Given the description of an element on the screen output the (x, y) to click on. 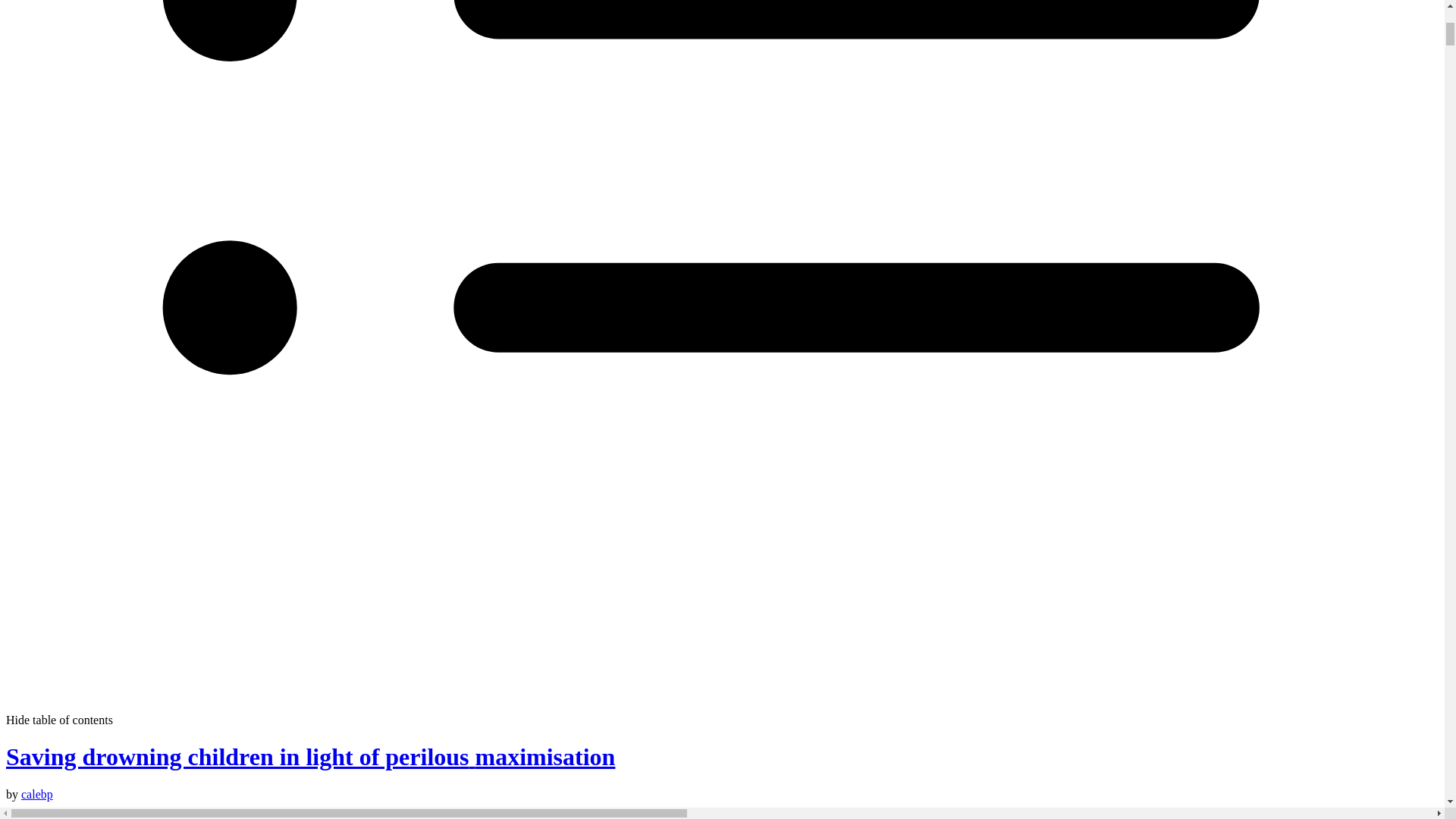
calebp (36, 793)
Saving drowning children in light of perilous maximisation (309, 756)
